Given the description of an element on the screen output the (x, y) to click on. 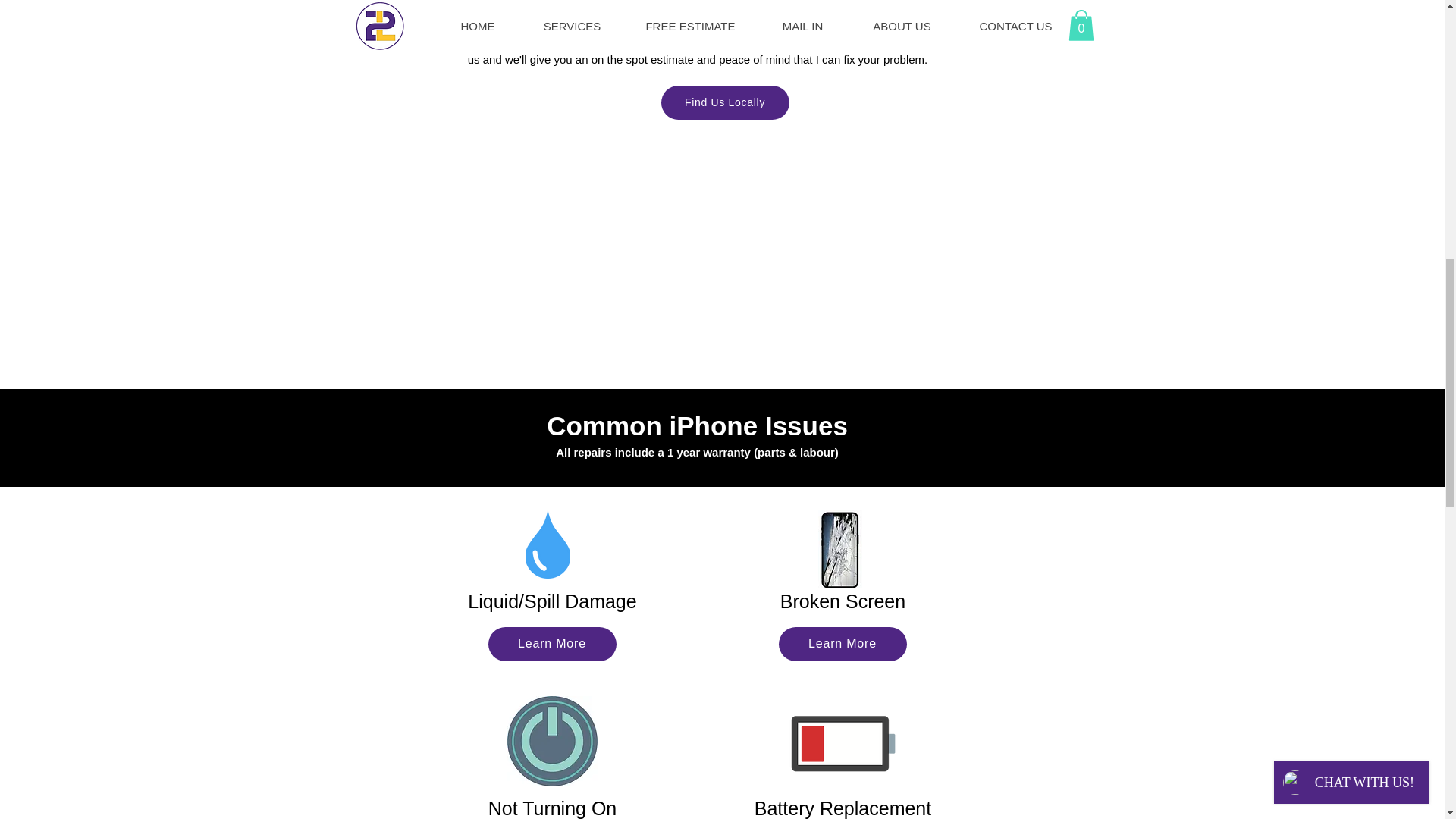
Learn More (551, 643)
Find Us Locally (725, 102)
Google Maps (725, 254)
Learn More (841, 643)
